Given the description of an element on the screen output the (x, y) to click on. 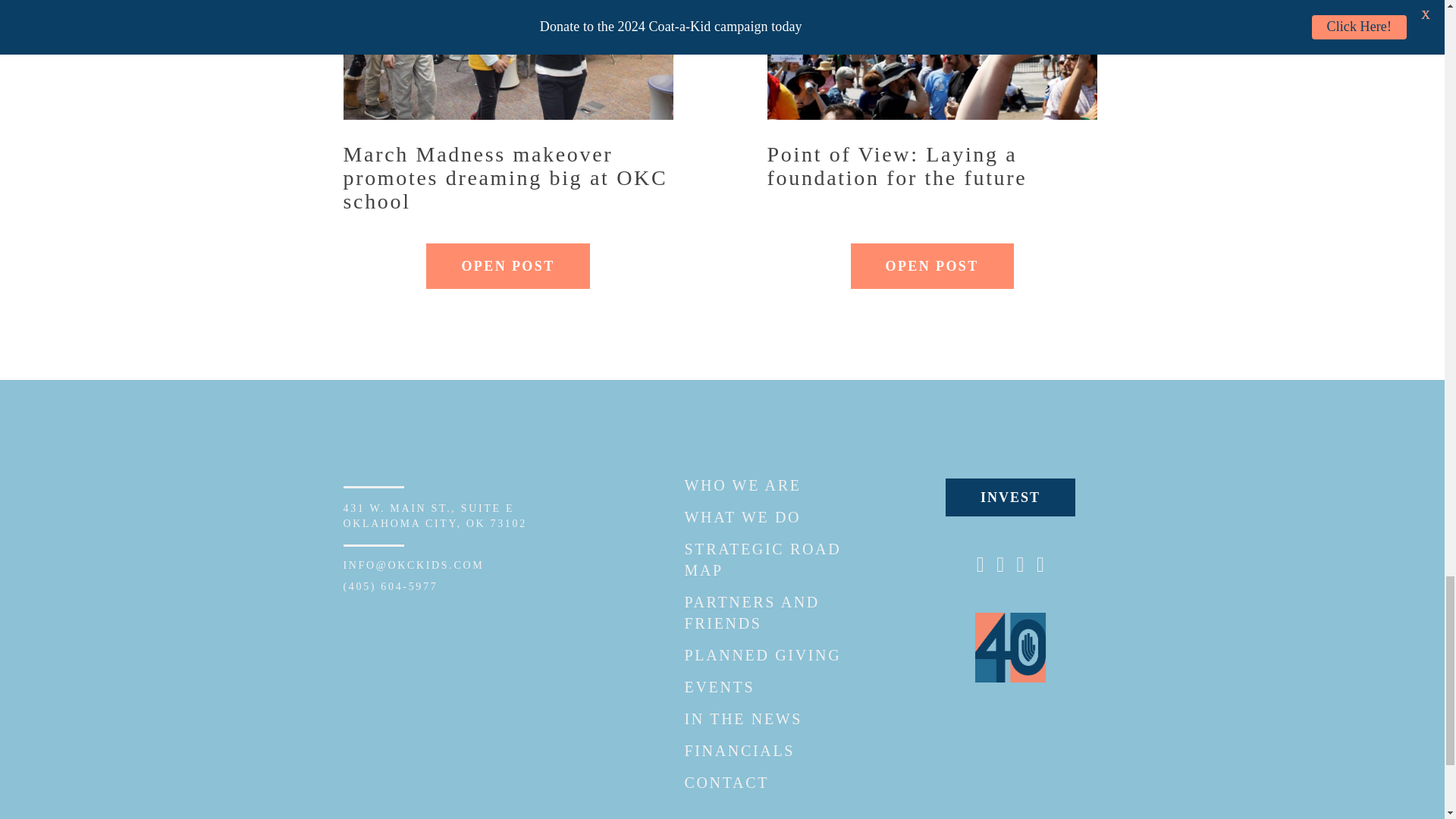
OPEN POST (433, 516)
WHAT WE DO (931, 266)
FINANCIALS (742, 516)
OPEN POST (739, 750)
PLANNED GIVING (507, 266)
EVENTS (762, 655)
WHO WE ARE (719, 686)
March Madness makeover promotes dreaming big at OKC school (742, 484)
STRATEGIC ROAD MAP (507, 177)
